Given the description of an element on the screen output the (x, y) to click on. 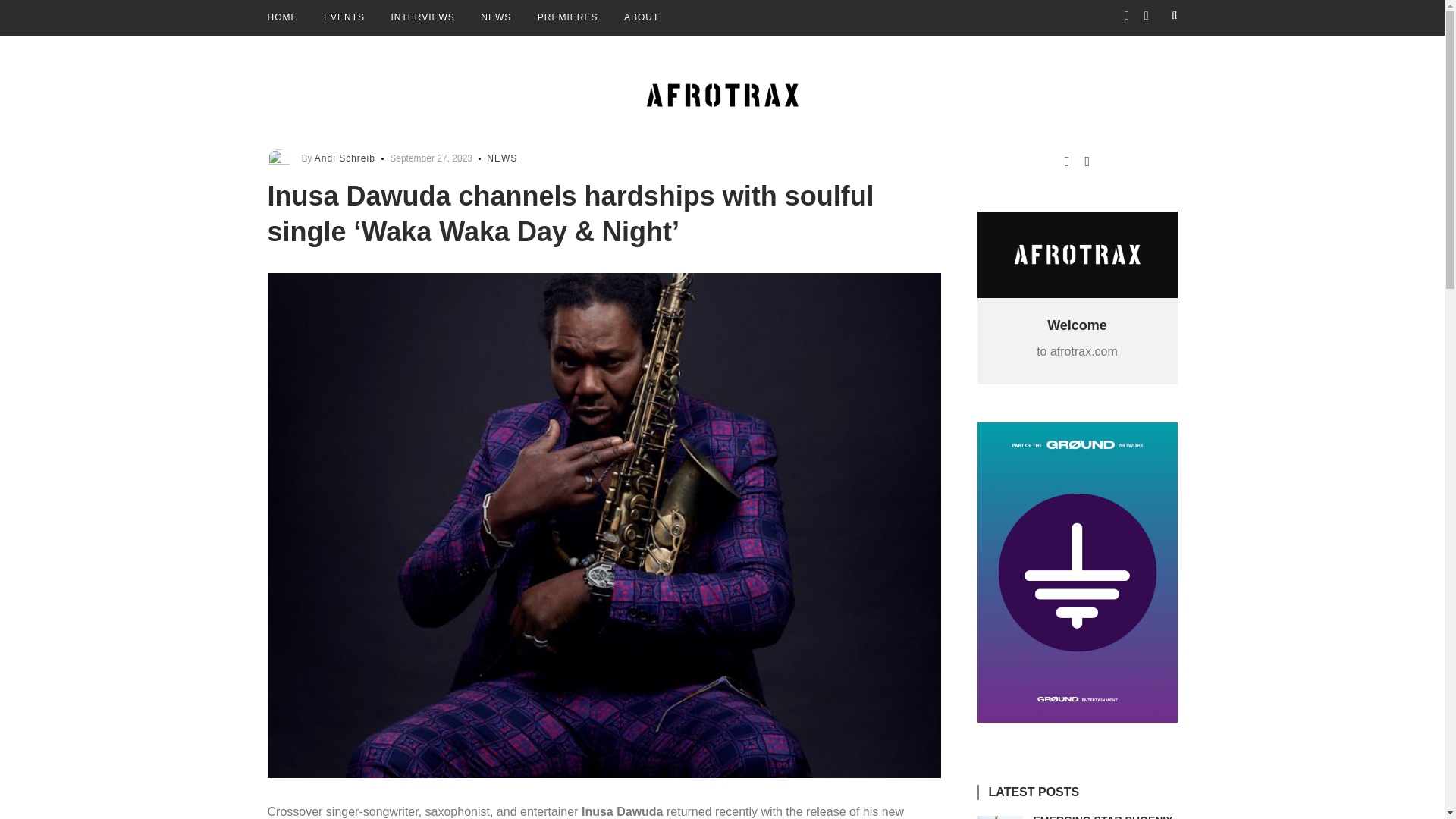
Andi Schreib (344, 158)
INTERVIEWS (422, 18)
NEWS (501, 158)
Posts by Andi Schreib (344, 158)
PREMIERES (567, 18)
ABOUT (641, 18)
EVENTS (344, 18)
